Given the description of an element on the screen output the (x, y) to click on. 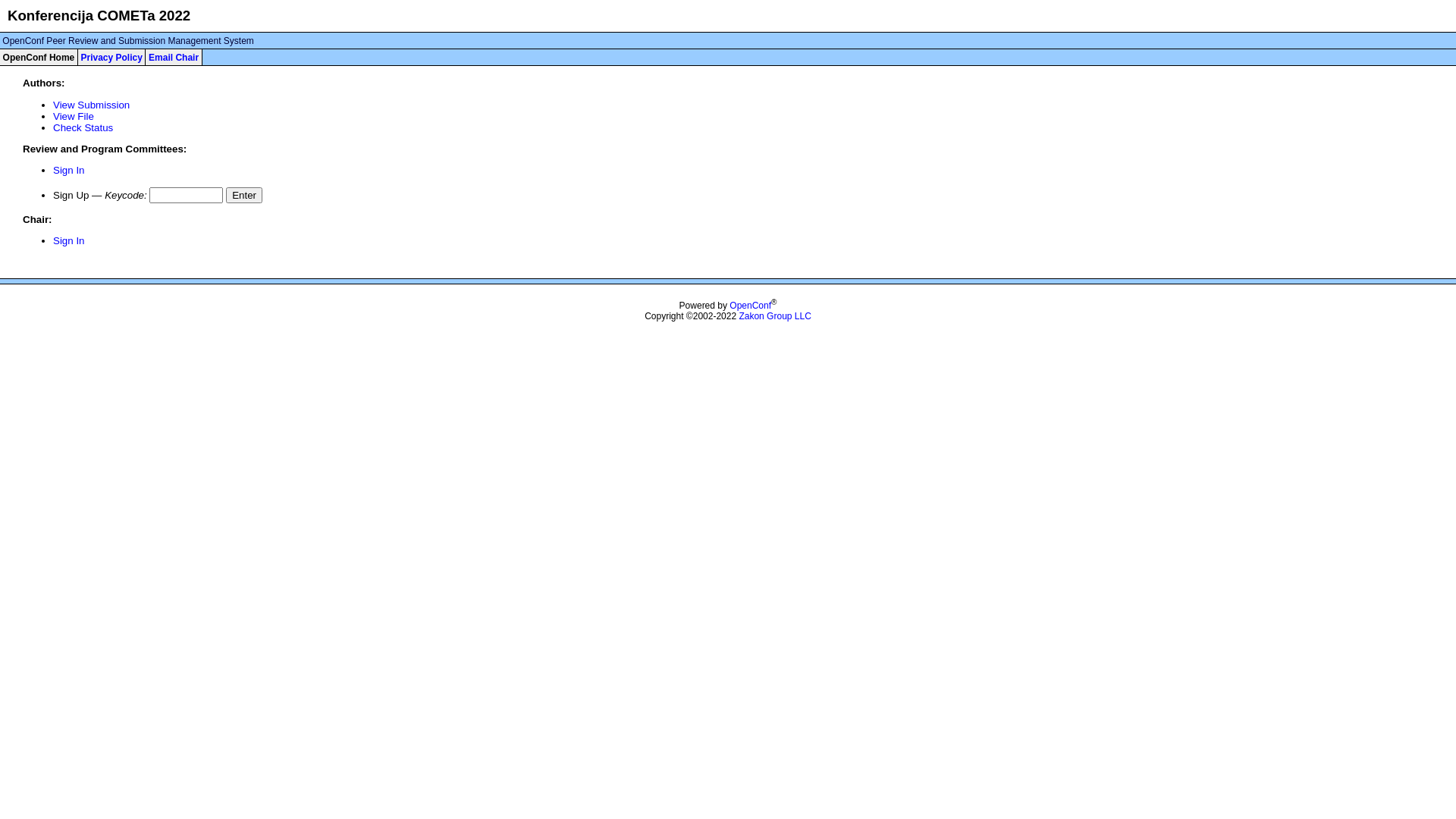
OpenConf Element type: text (750, 305)
Sign In Element type: text (68, 169)
View File Element type: text (73, 116)
View Submission Element type: text (91, 104)
Check Status Element type: text (82, 127)
Konferencija COMETa 2022 Element type: text (98, 15)
Zakon Group LLC Element type: text (774, 315)
Enter Element type: text (243, 195)
Email Chair Element type: text (173, 57)
Sign In Element type: text (68, 240)
Privacy Policy Element type: text (110, 57)
